Given the description of an element on the screen output the (x, y) to click on. 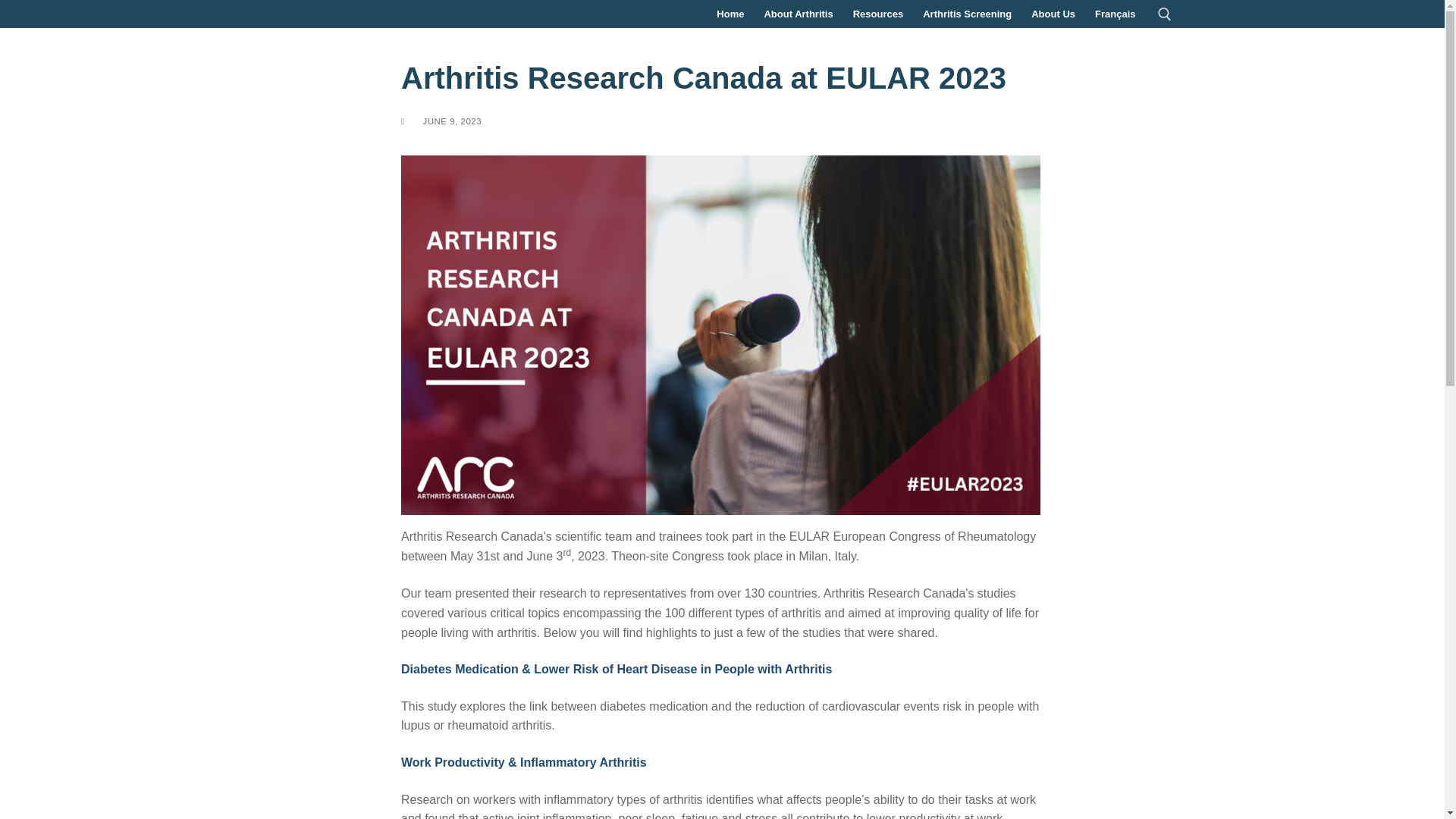
Home (730, 13)
Resources (877, 13)
Arthritis Screening (967, 13)
About Us (1053, 13)
About Arthritis (798, 13)
JUNE 9, 2023 (441, 121)
